Given the description of an element on the screen output the (x, y) to click on. 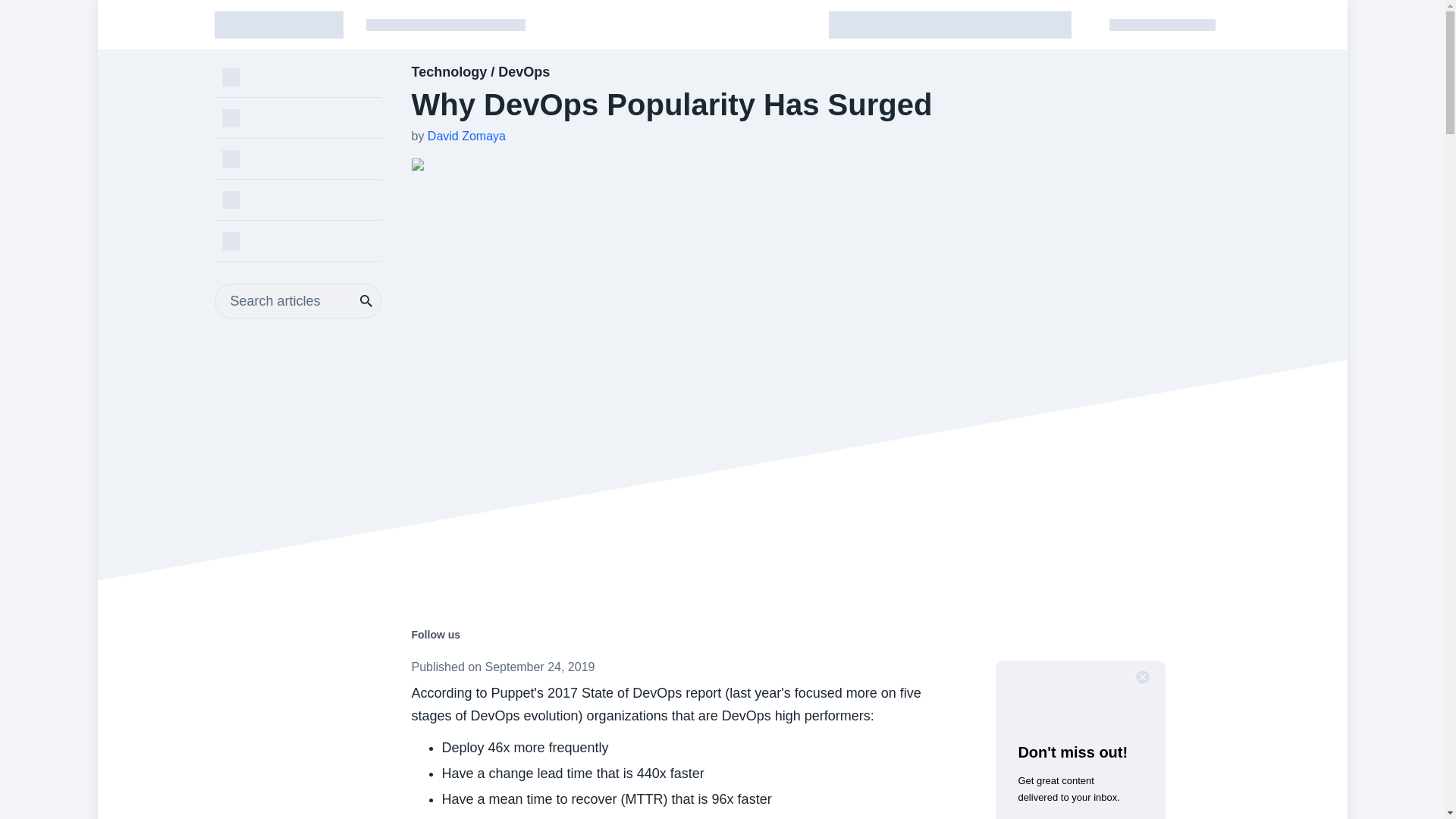
David Zomaya (466, 135)
Why DevOps Popularity Has Surged picture: A (541, 164)
